Given the description of an element on the screen output the (x, y) to click on. 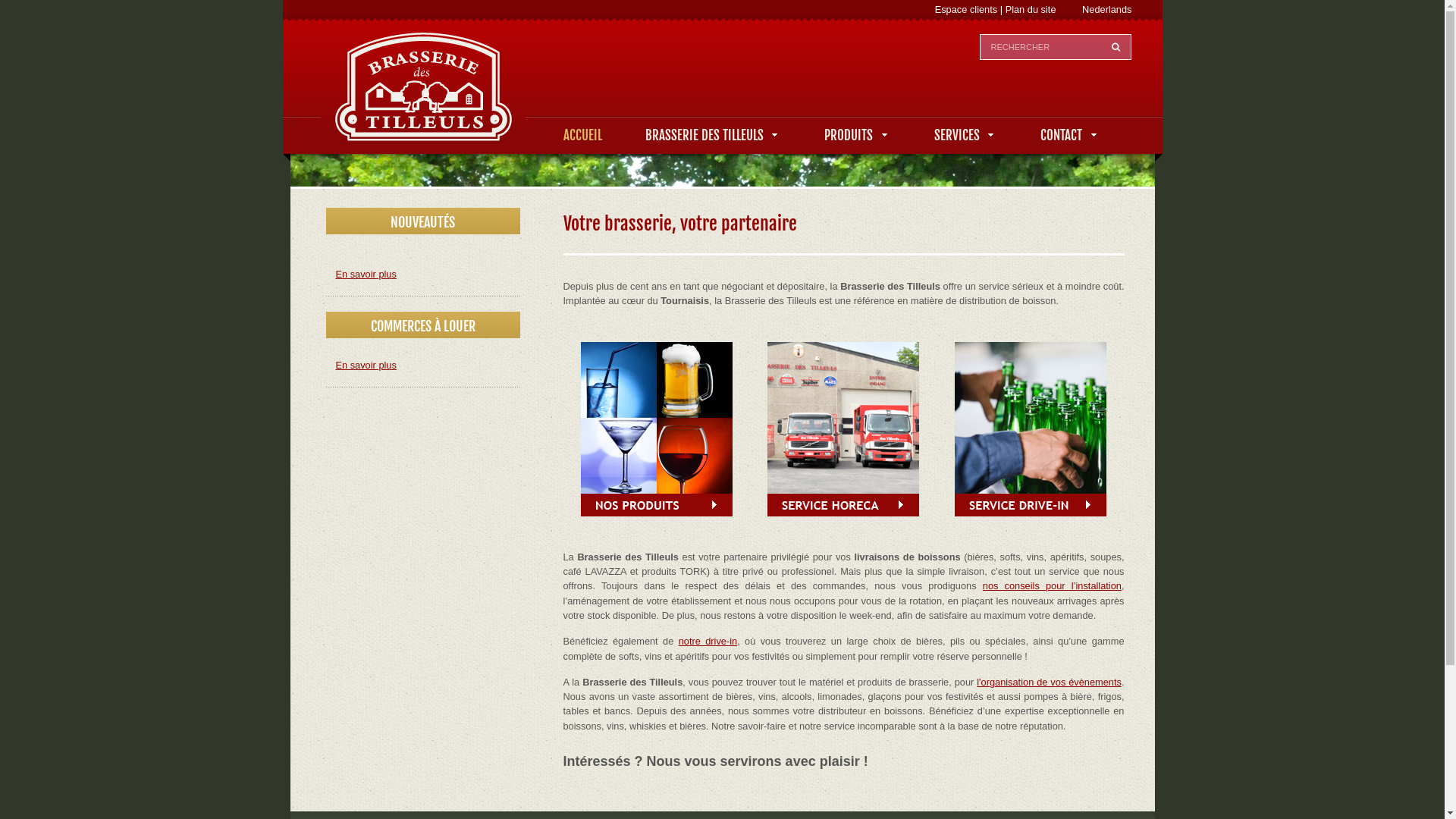
PRODUITS Element type: text (857, 134)
notre drive-in Element type: text (707, 640)
En savoir plus Element type: text (365, 273)
  Element type: text (1115, 45)
Service Horeca Element type: hover (843, 429)
SERVICES Element type: text (965, 134)
En savoir plus Element type: text (365, 364)
BRASSERIE DES TILLEULS Element type: text (712, 134)
Nos produits Element type: hover (656, 429)
Espace clients Element type: text (966, 9)
ACCUEIL Element type: text (581, 134)
Nederlands Element type: text (1106, 9)
Brasserie des Tilleuls Element type: hover (721, 94)
Service Drive-in Element type: hover (1030, 429)
CONTACT Element type: text (1069, 134)
Plan du site Element type: text (1030, 9)
